Given the description of an element on the screen output the (x, y) to click on. 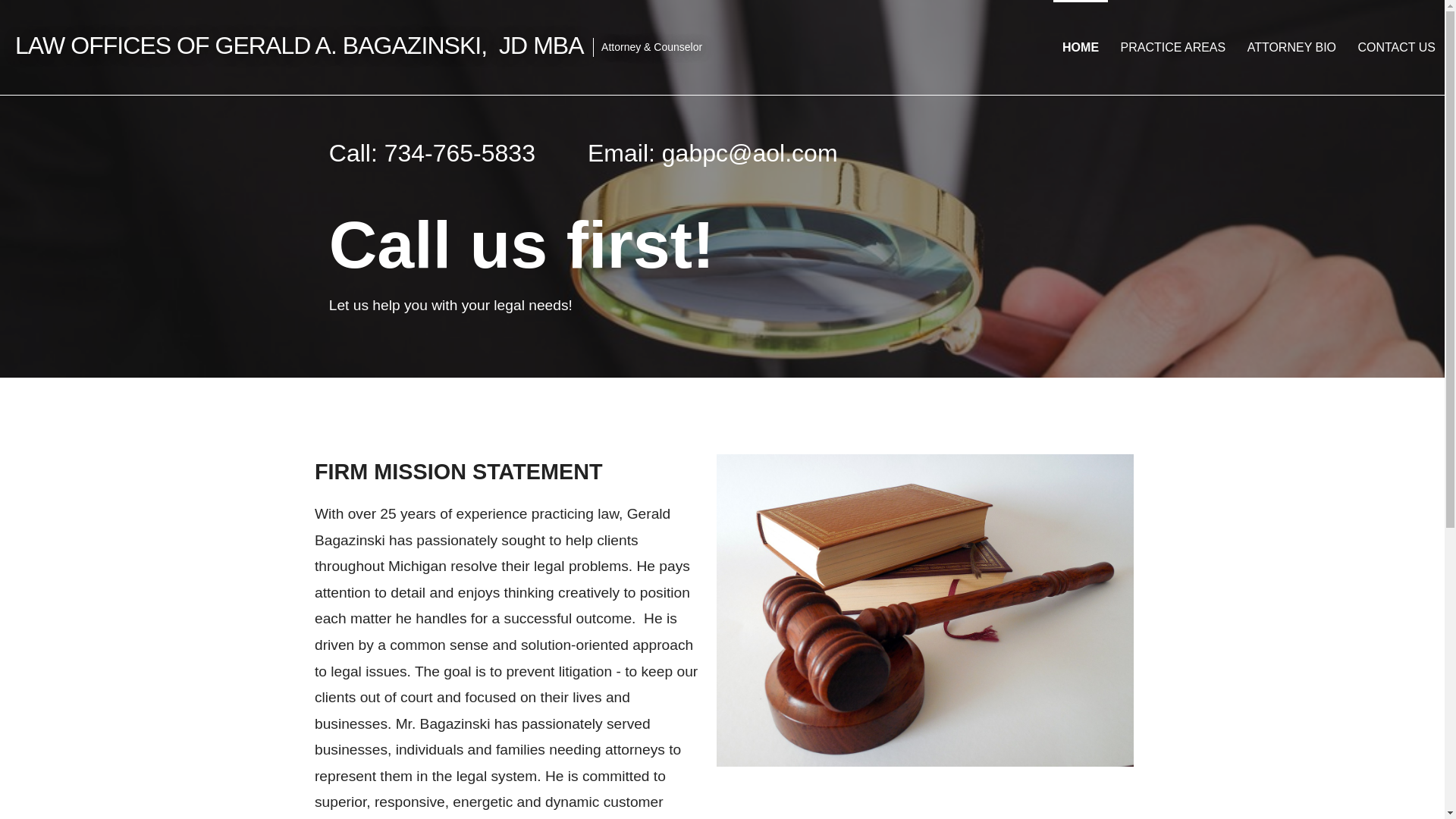
ATTORNEY BIO (1292, 47)
LAW OFFICES OF GERALD A. BAGAZINSKI,  JD MBA (298, 44)
HOME (1080, 47)
hammer (925, 610)
PRACTICE AREAS (1173, 47)
